Given the description of an element on the screen output the (x, y) to click on. 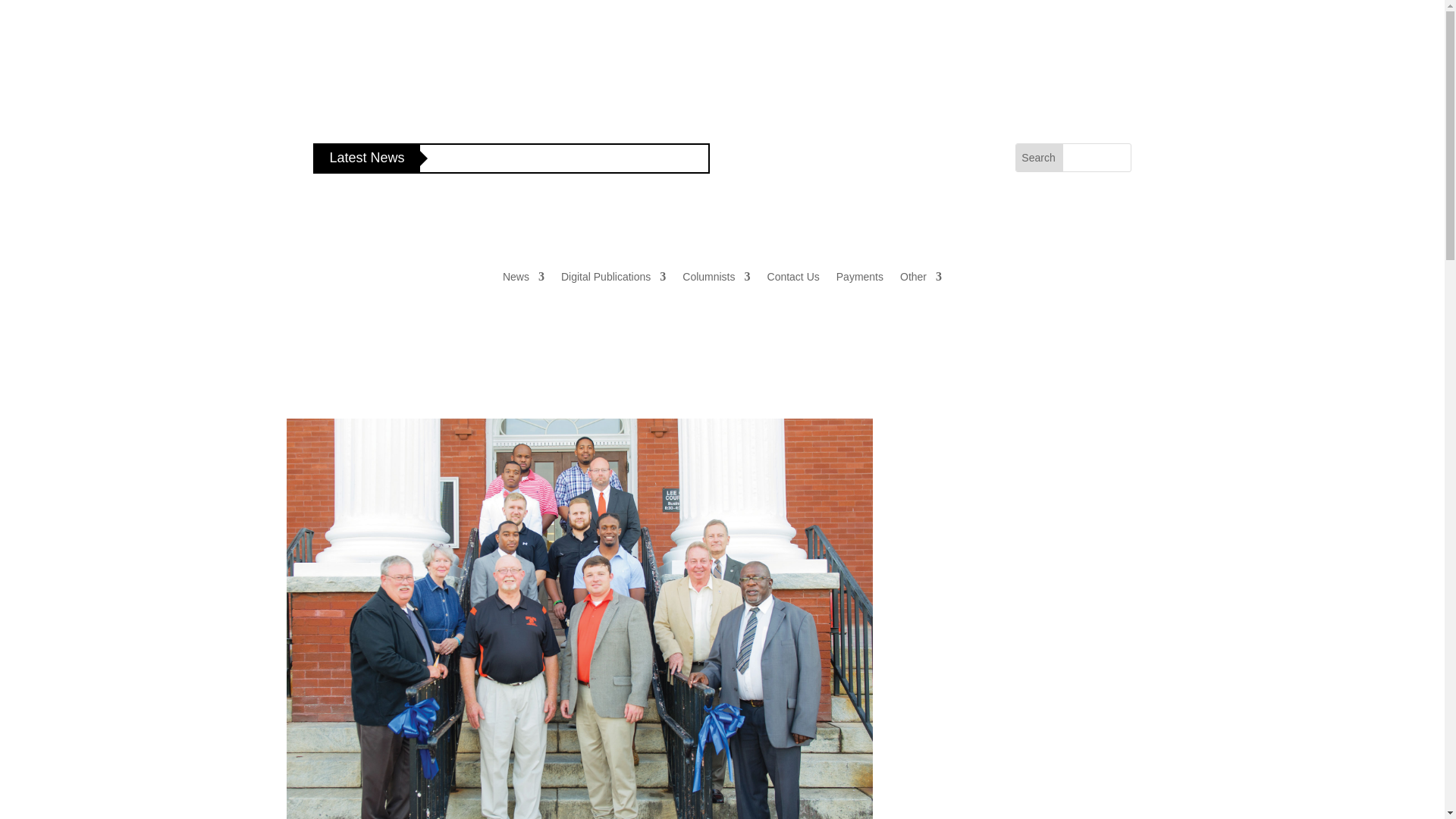
Search (1037, 157)
Follow on X (963, 155)
Follow on Instagram (932, 155)
Search (1037, 157)
Search (1037, 157)
Columnists (715, 276)
Subscribe Now! (792, 175)
Digital Publications (612, 276)
Follow on Facebook (903, 155)
